Given the description of an element on the screen output the (x, y) to click on. 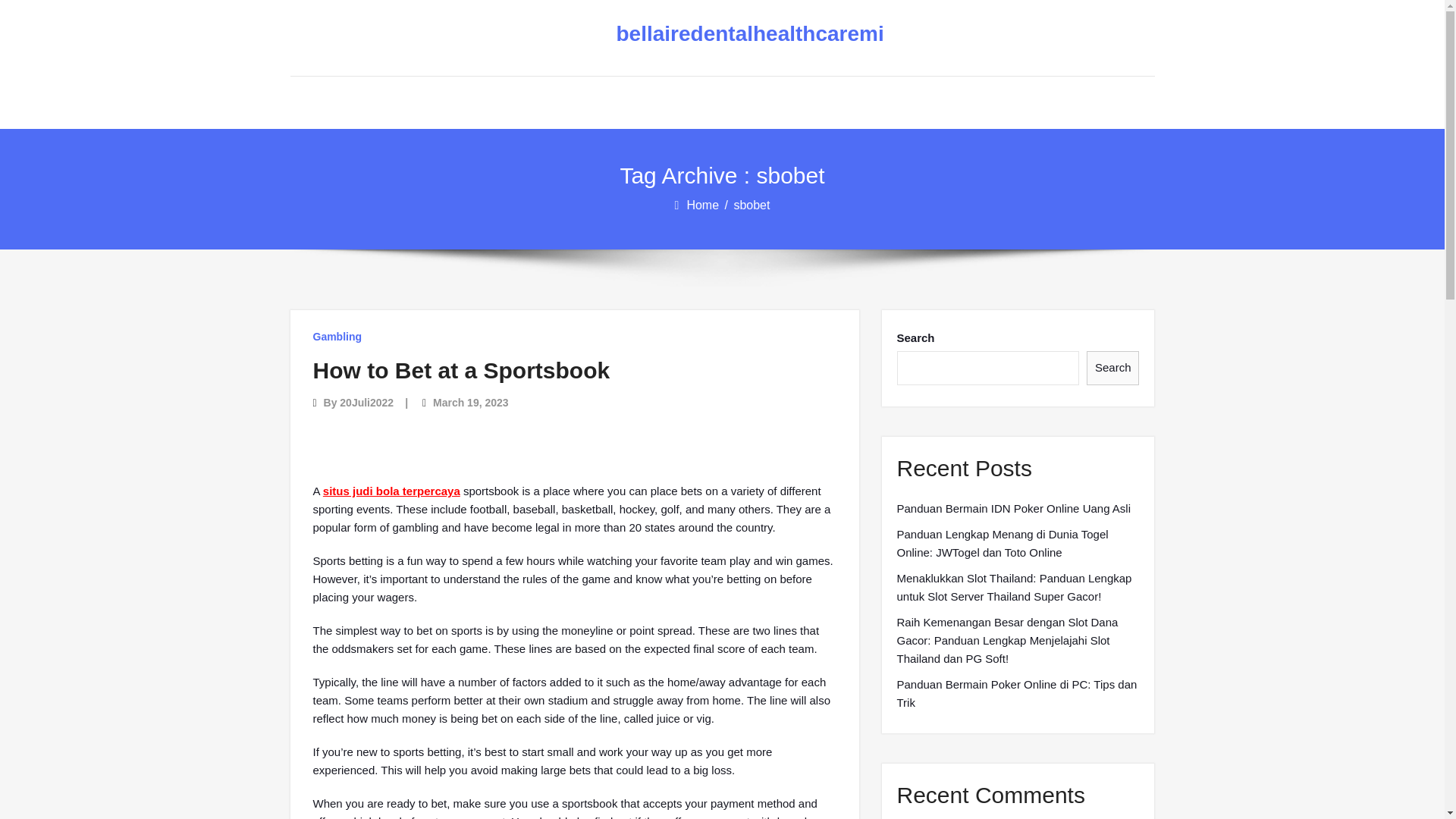
Gambling (337, 336)
situs judi bola terpercaya (391, 490)
bellairedentalhealthcaremi (710, 34)
Panduan Bermain Poker Online di PC: Tips dan Trik (1017, 693)
20Juli2022 (366, 402)
Search (1113, 367)
Home (702, 205)
Panduan Bermain IDN Poker Online Uang Asli (1013, 508)
How to Bet at a Sportsbook (461, 370)
March 19, 2023 (470, 402)
